Given the description of an element on the screen output the (x, y) to click on. 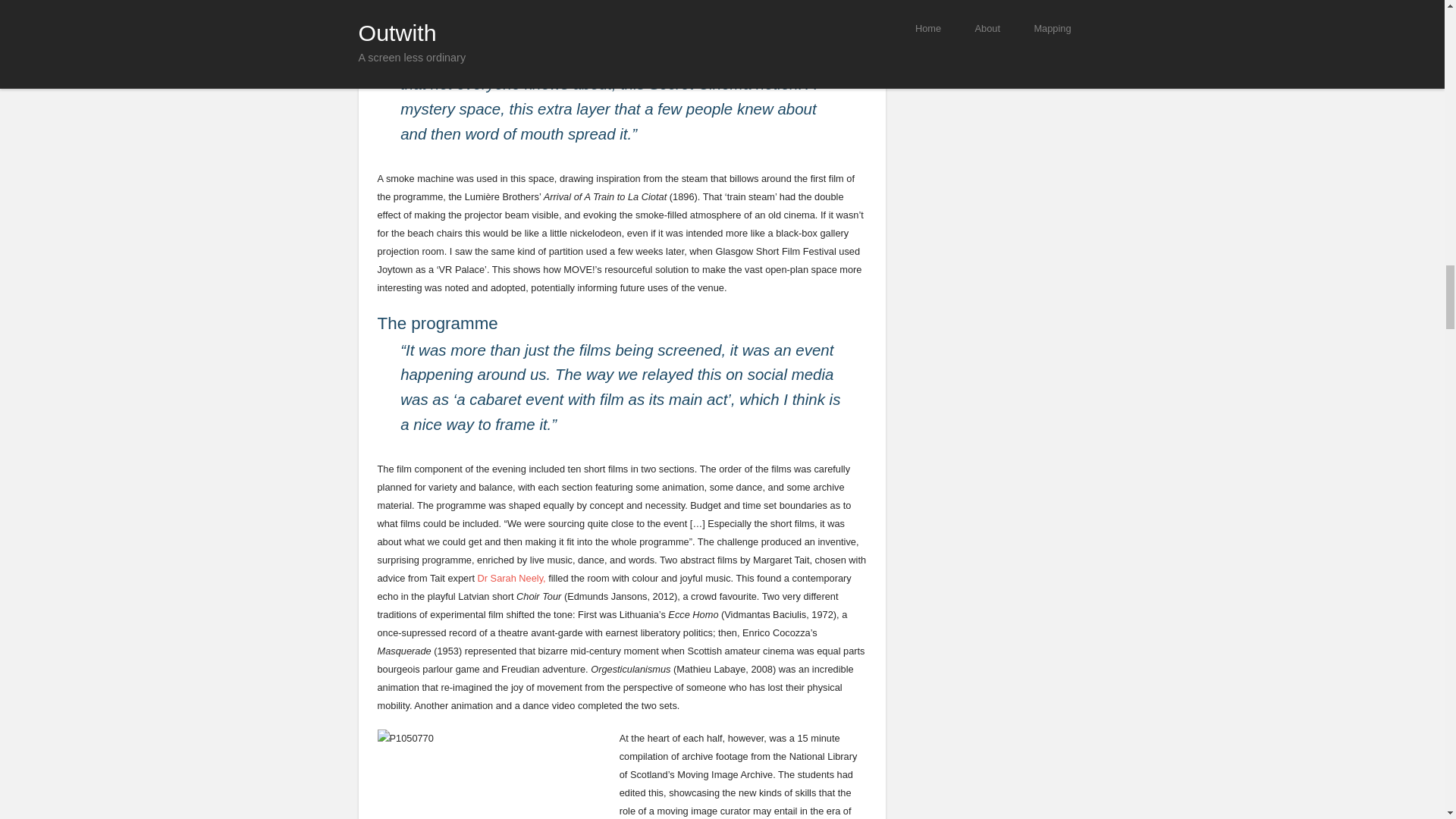
Dr Sarah Neely, (511, 577)
